Given the description of an element on the screen output the (x, y) to click on. 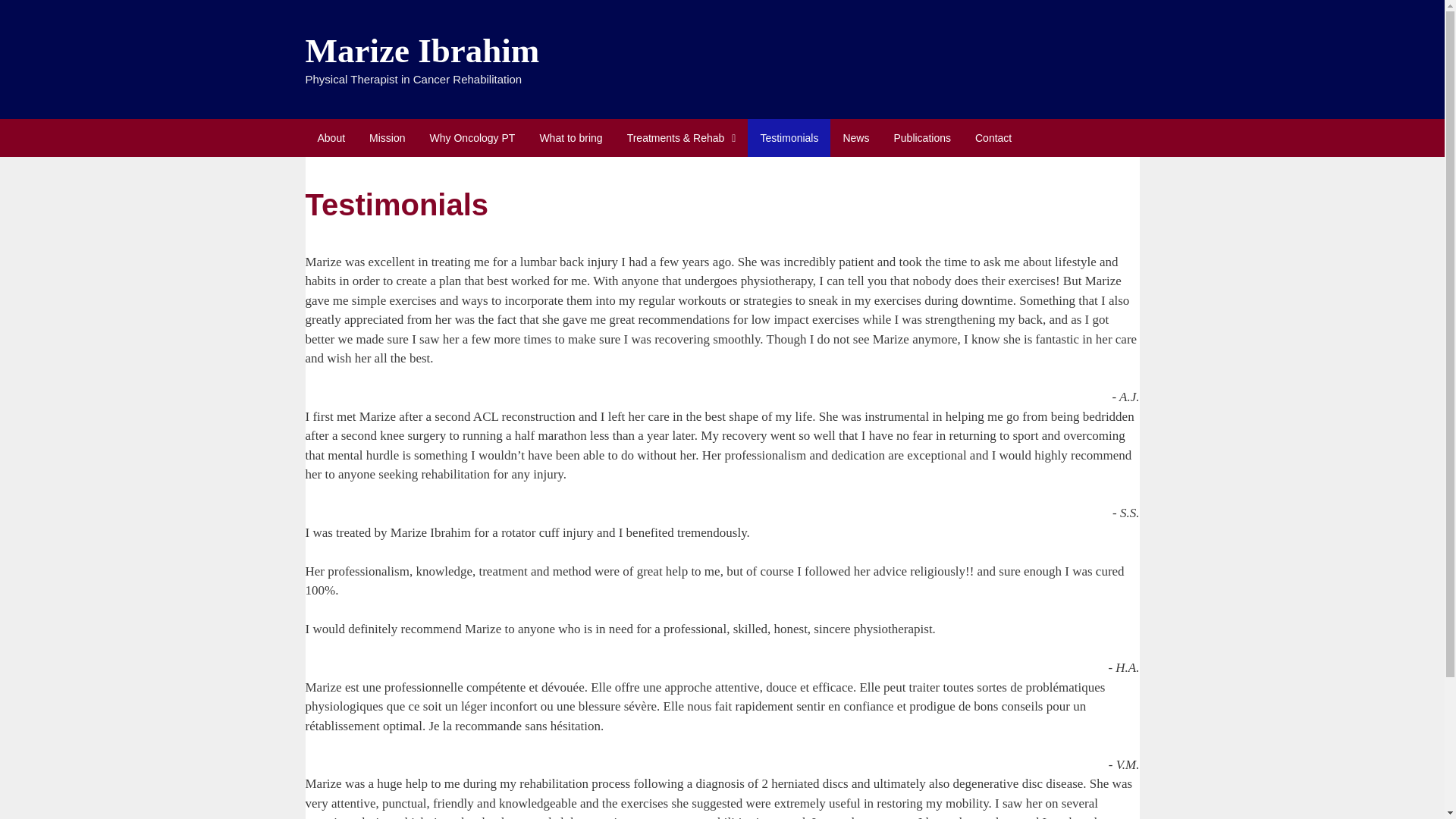
Marize Ibrahim (421, 50)
Testimonials (788, 136)
What to bring (570, 136)
Why Oncology PT (472, 136)
News (854, 136)
Contact (992, 136)
Mission (386, 136)
About (330, 136)
